Given the description of an element on the screen output the (x, y) to click on. 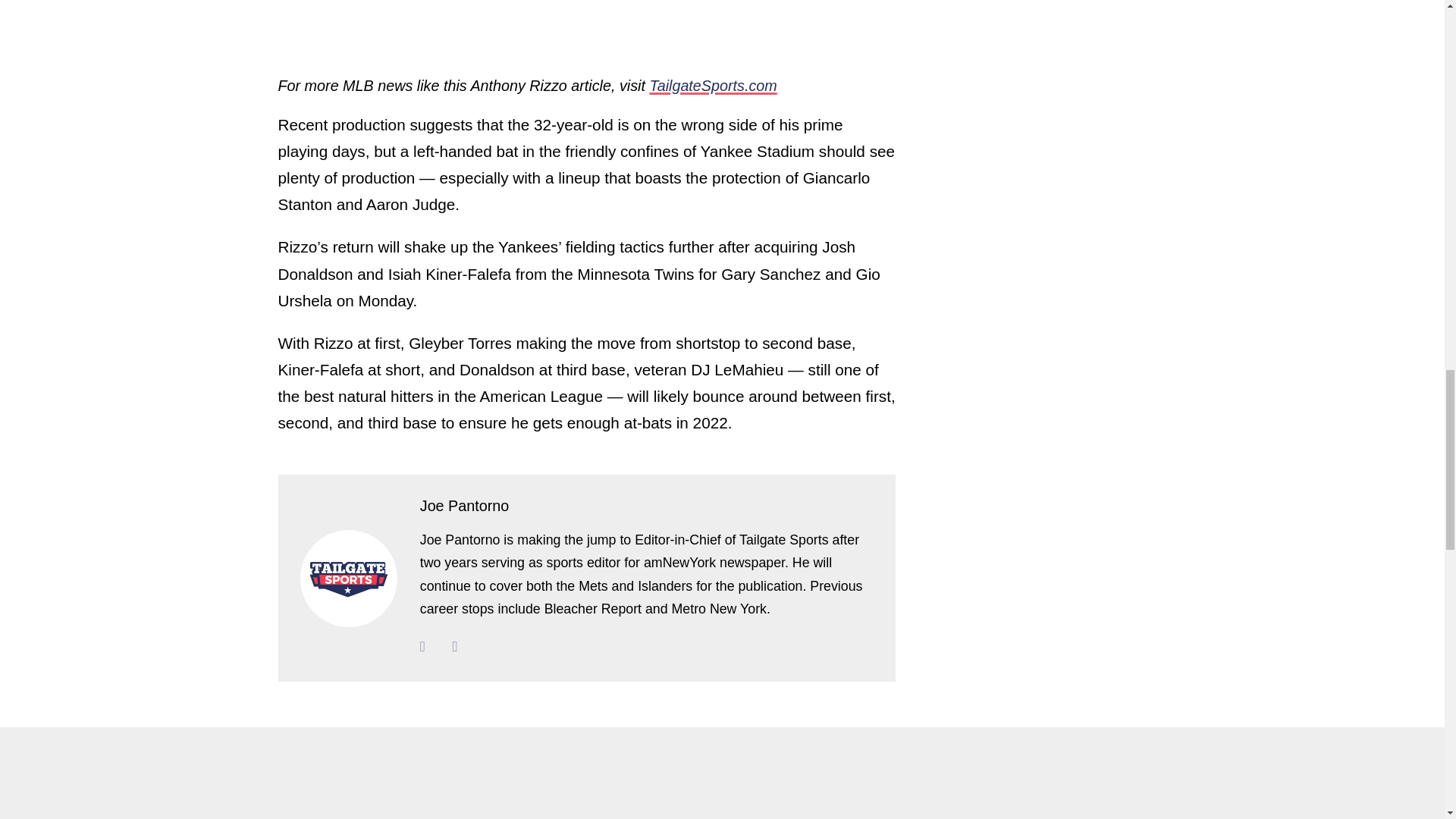
Rizzo rakes! Anthony Rizzo CRUSHES homer in Yankees debut! (467, 20)
